Given the description of an element on the screen output the (x, y) to click on. 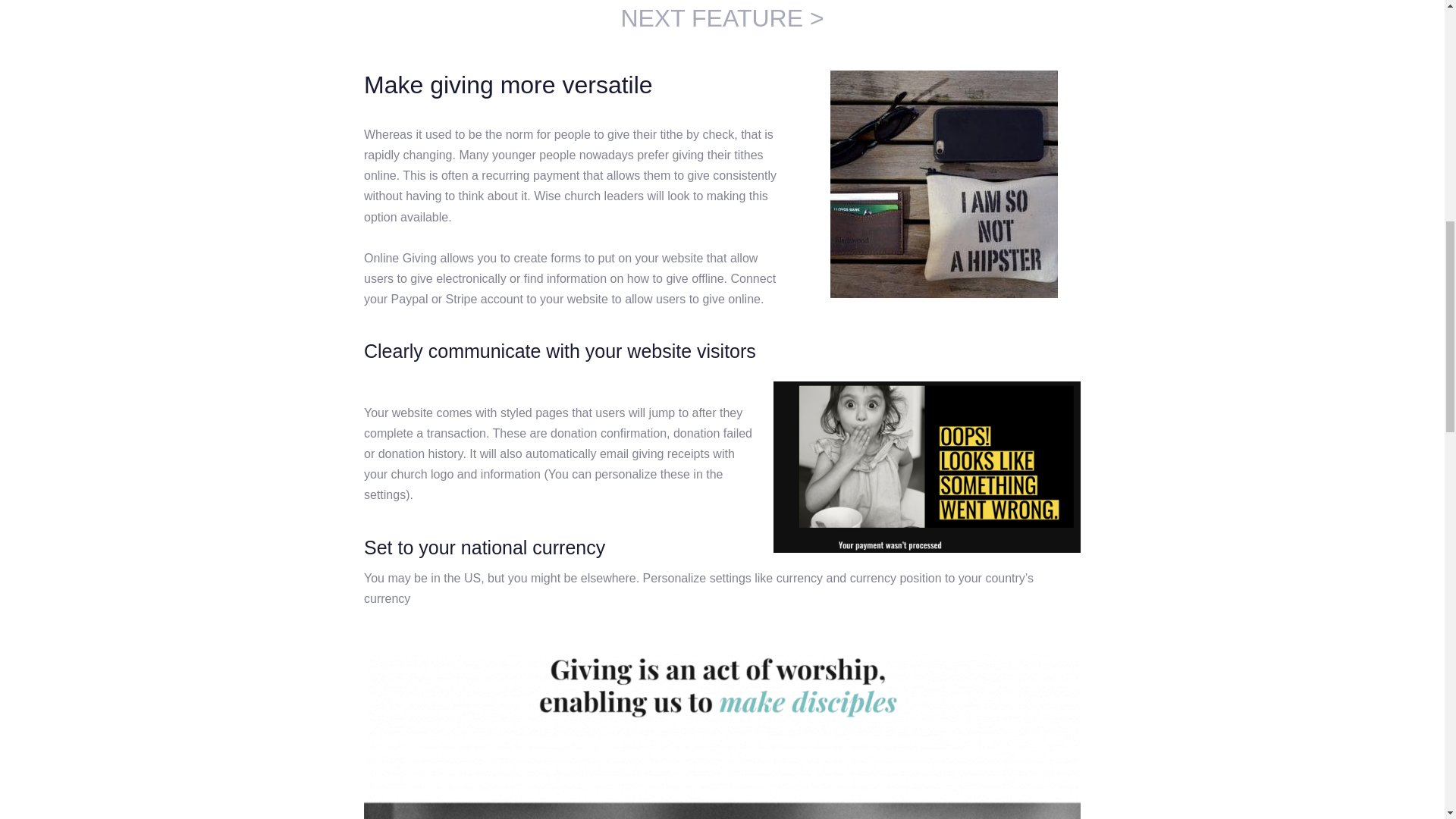
Sermon Management (722, 17)
